Given the description of an element on the screen output the (x, y) to click on. 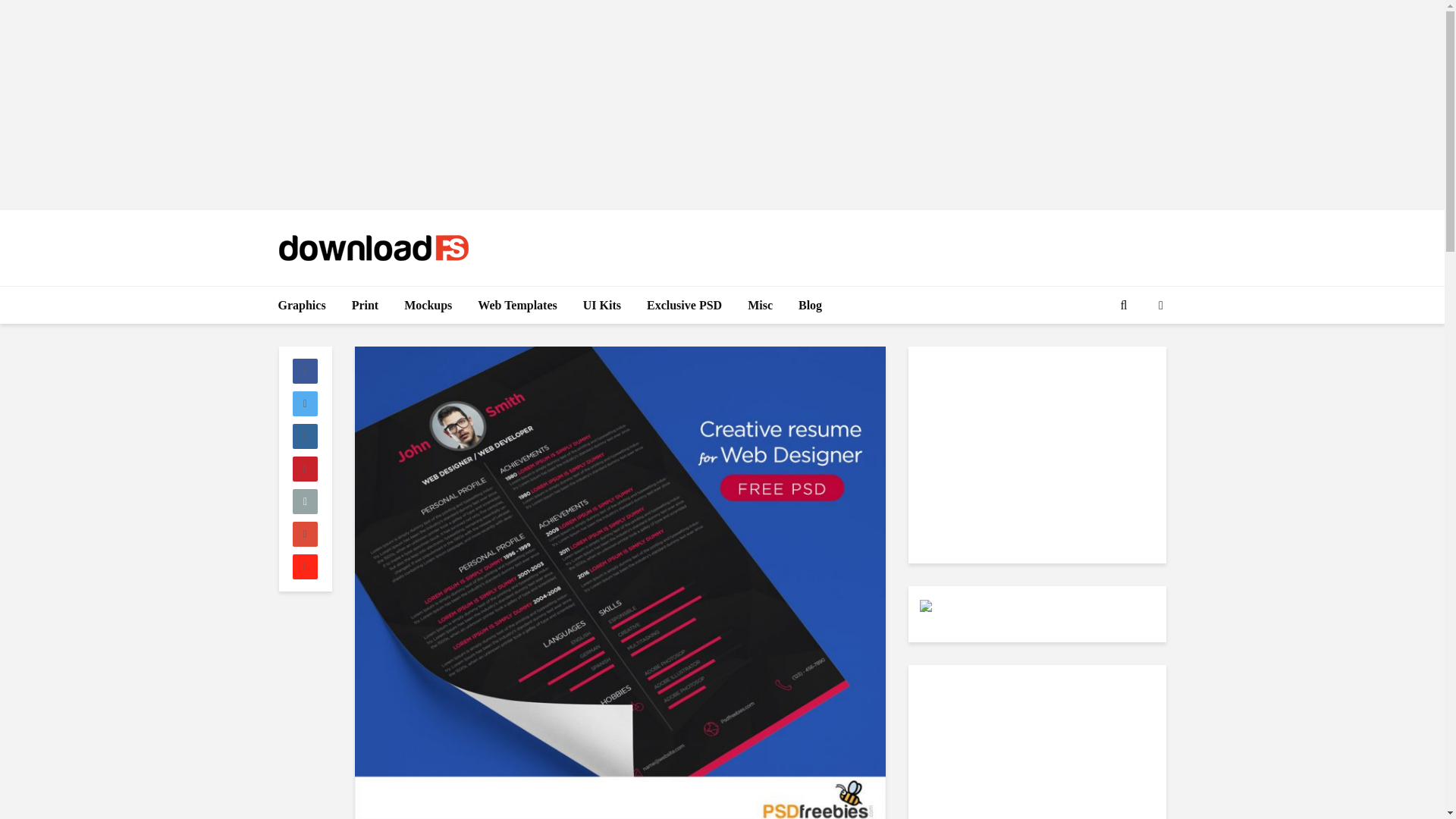
Exclusive PSD (683, 305)
Web Templates (516, 305)
Mockups (428, 305)
UI Kits (601, 305)
Print (365, 305)
Creative resume Template for Web Designer Free PSD (620, 582)
Graphics (301, 305)
Blog (809, 305)
Misc (760, 305)
